Given the description of an element on the screen output the (x, y) to click on. 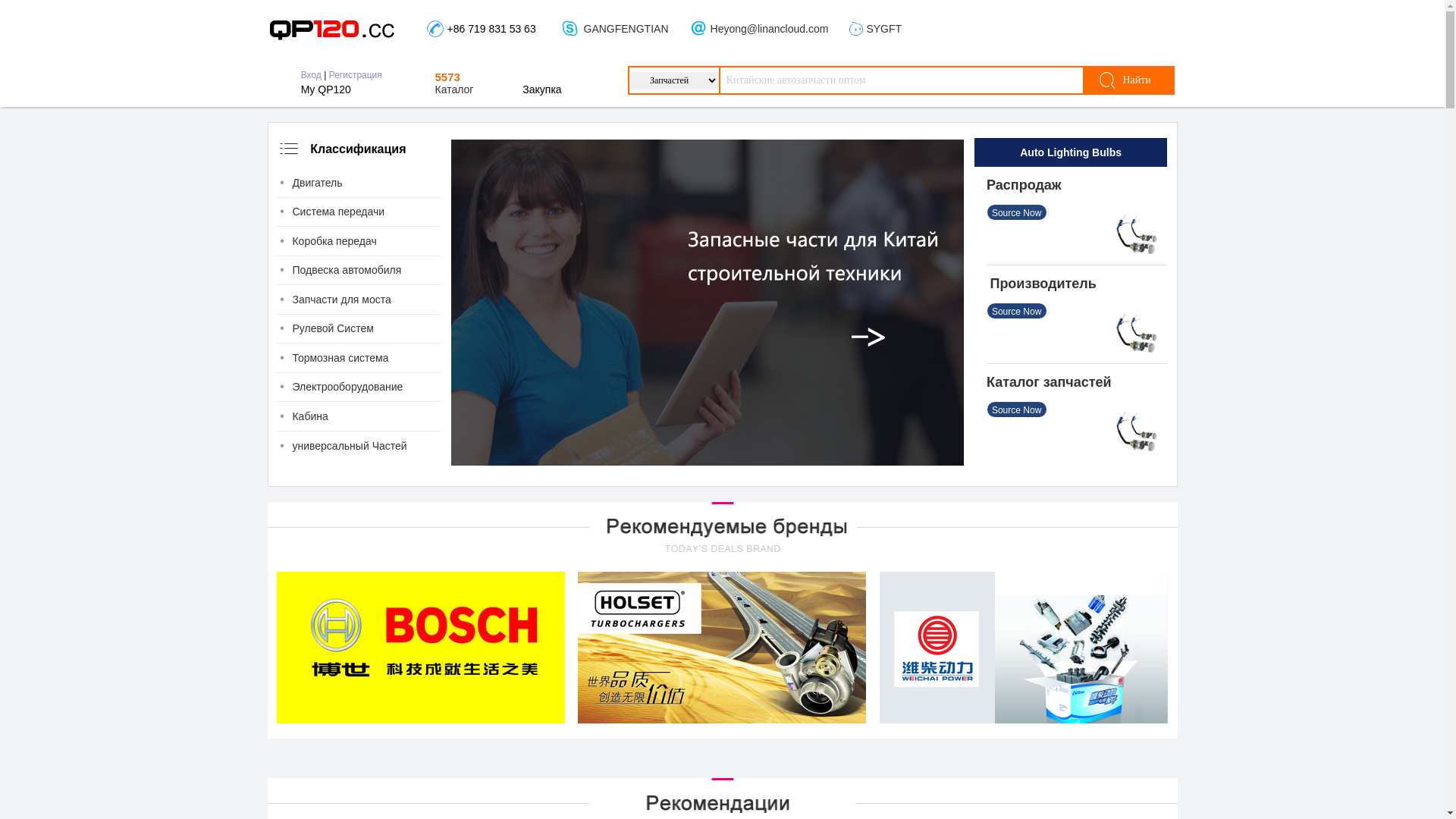
GANGFENGTIAN Element type: text (625, 28)
5573 Element type: text (447, 77)
Heyong@linancloud.com Element type: text (769, 28)
SYGFT Element type: text (883, 28)
